Given the description of an element on the screen output the (x, y) to click on. 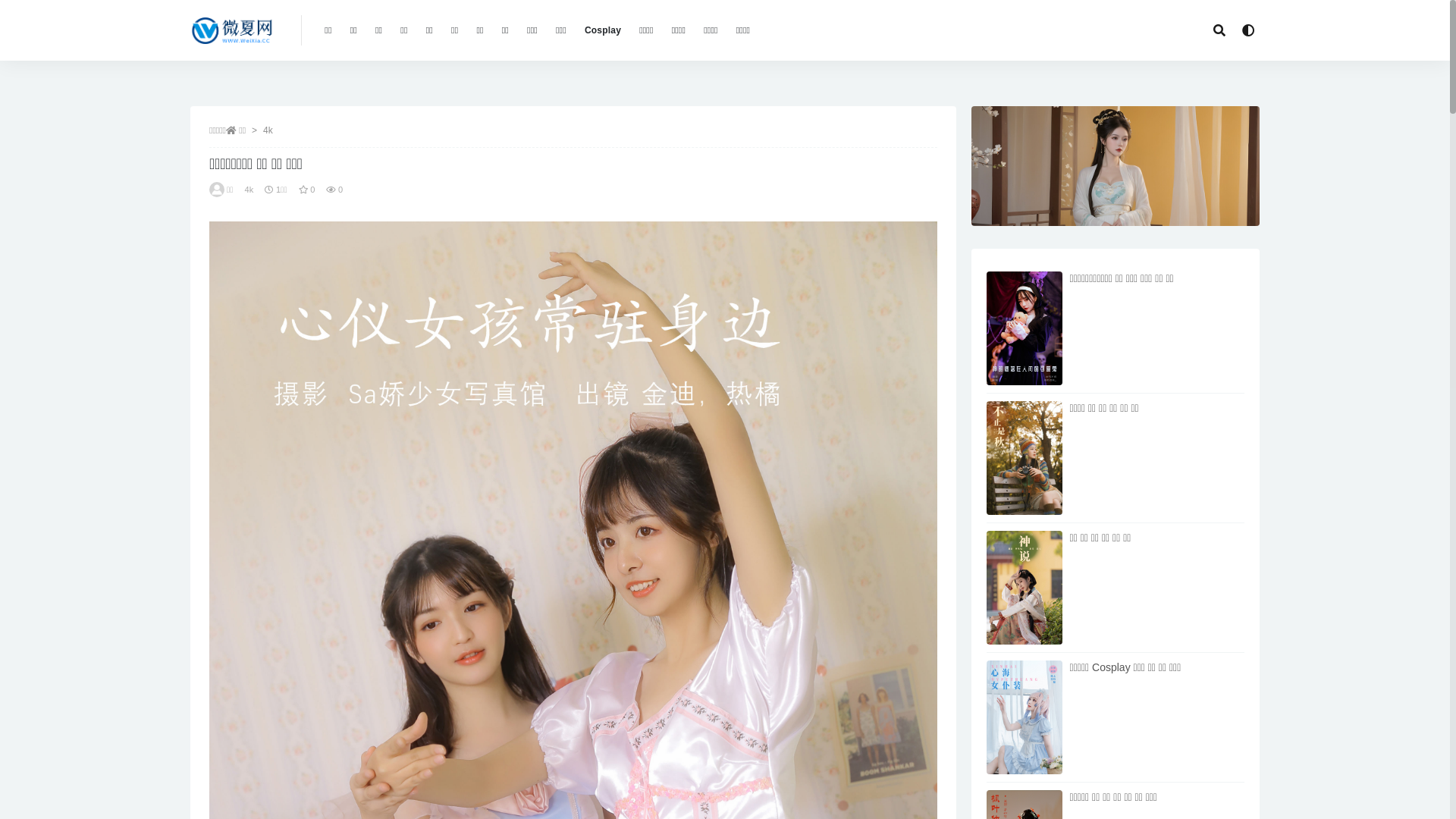
Cosplay Element type: text (602, 30)
4k Element type: text (268, 130)
4k Element type: text (248, 189)
